Given the description of an element on the screen output the (x, y) to click on. 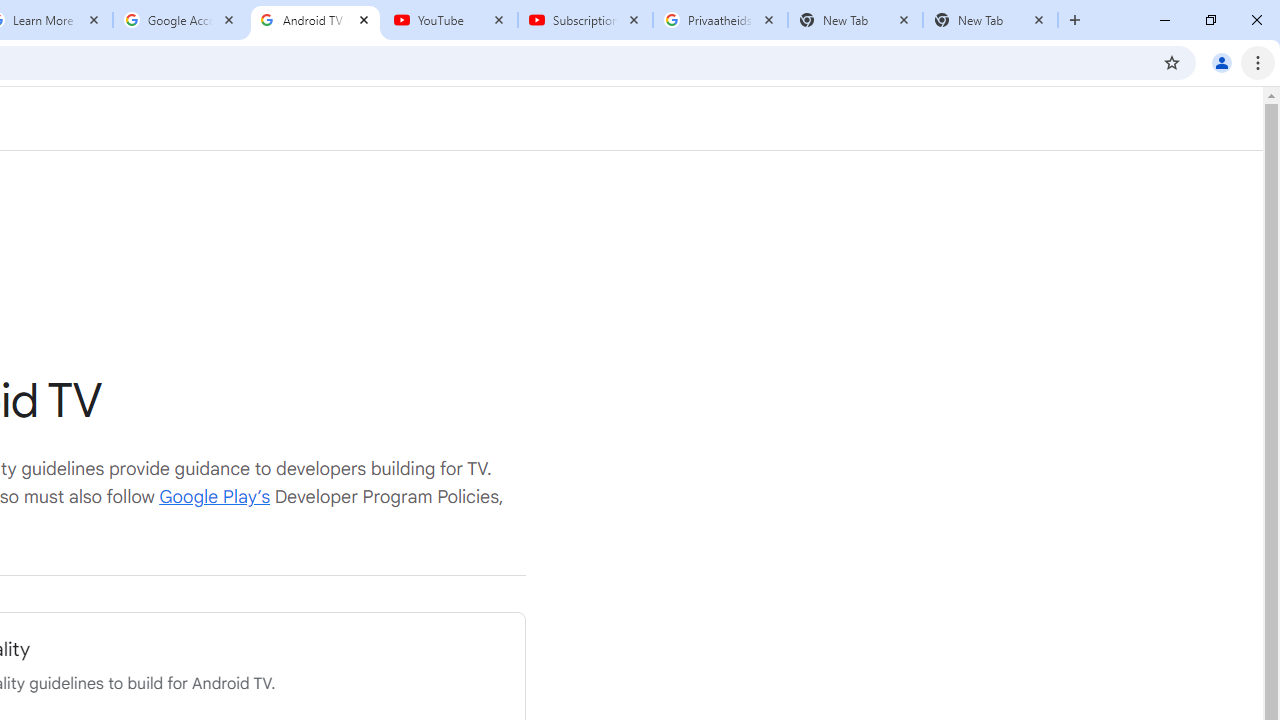
Android TV Policies and Guidelines - Transparency Center (315, 20)
Google Account (180, 20)
New Tab (990, 20)
YouTube (450, 20)
Subscriptions - YouTube (585, 20)
